Given the description of an element on the screen output the (x, y) to click on. 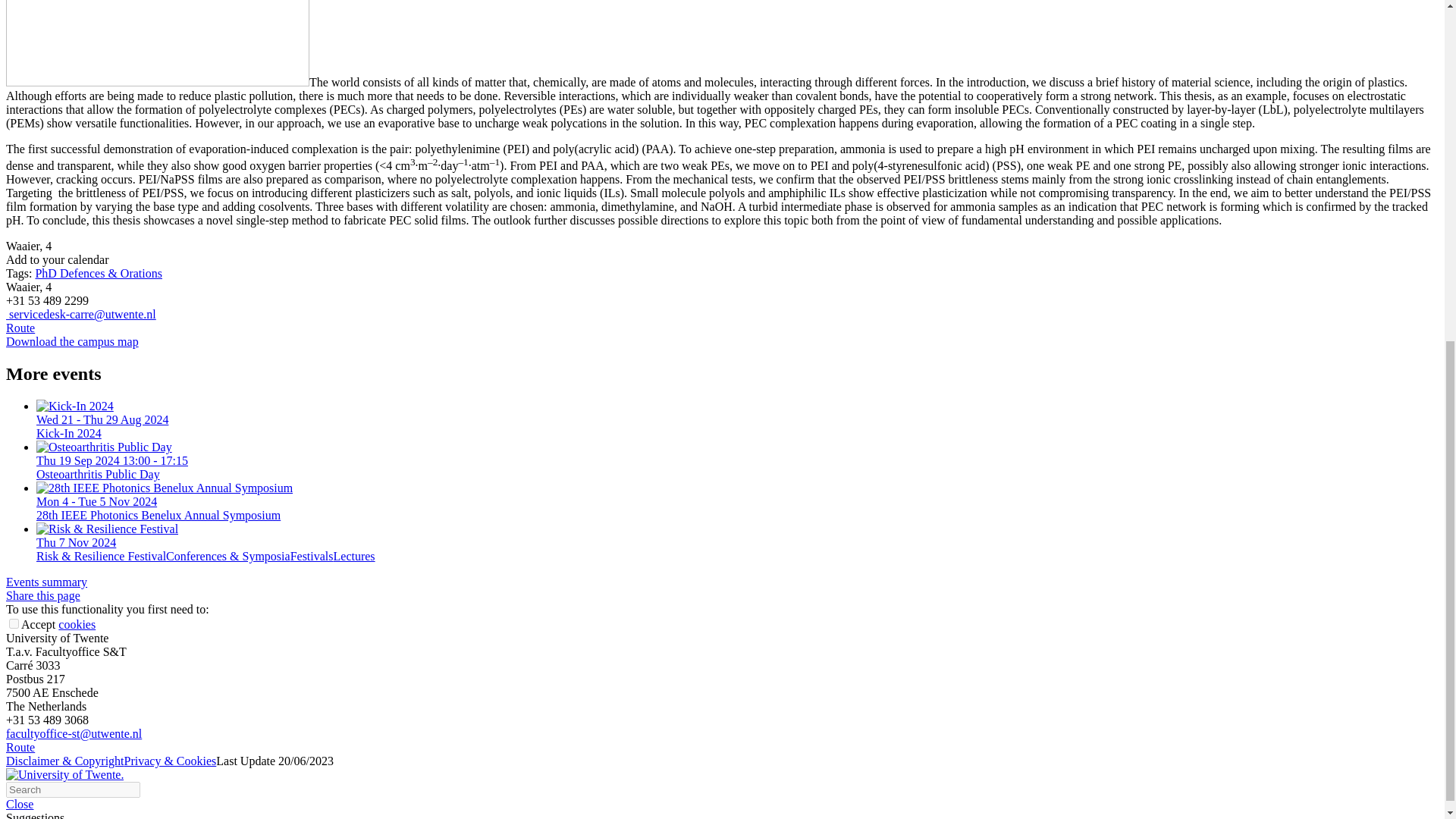
Close (19, 803)
Share this page (42, 594)
cookies (77, 624)
on (13, 623)
Route (19, 747)
Events summary (46, 581)
